Given the description of an element on the screen output the (x, y) to click on. 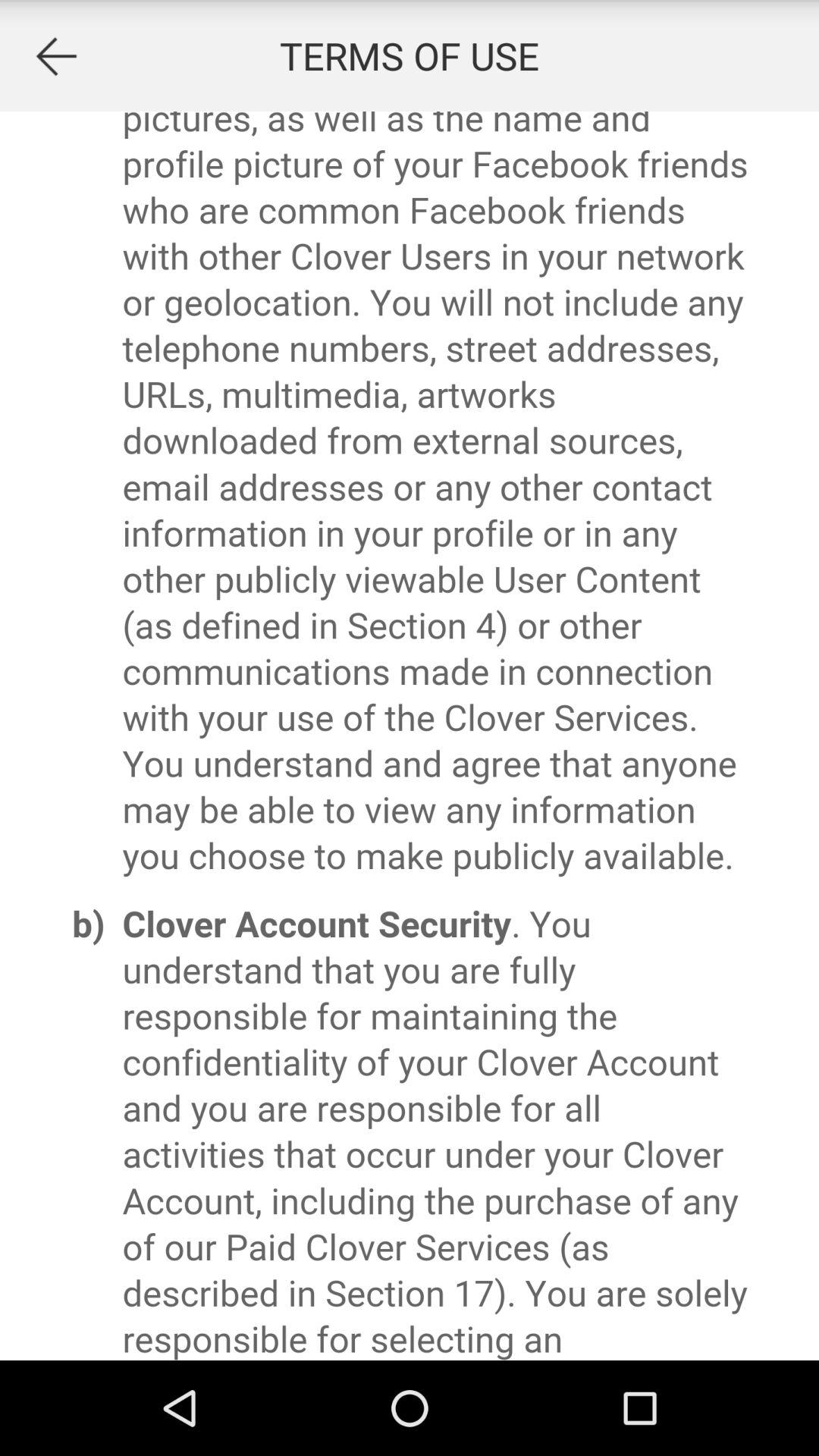
advertisement (409, 735)
